Given the description of an element on the screen output the (x, y) to click on. 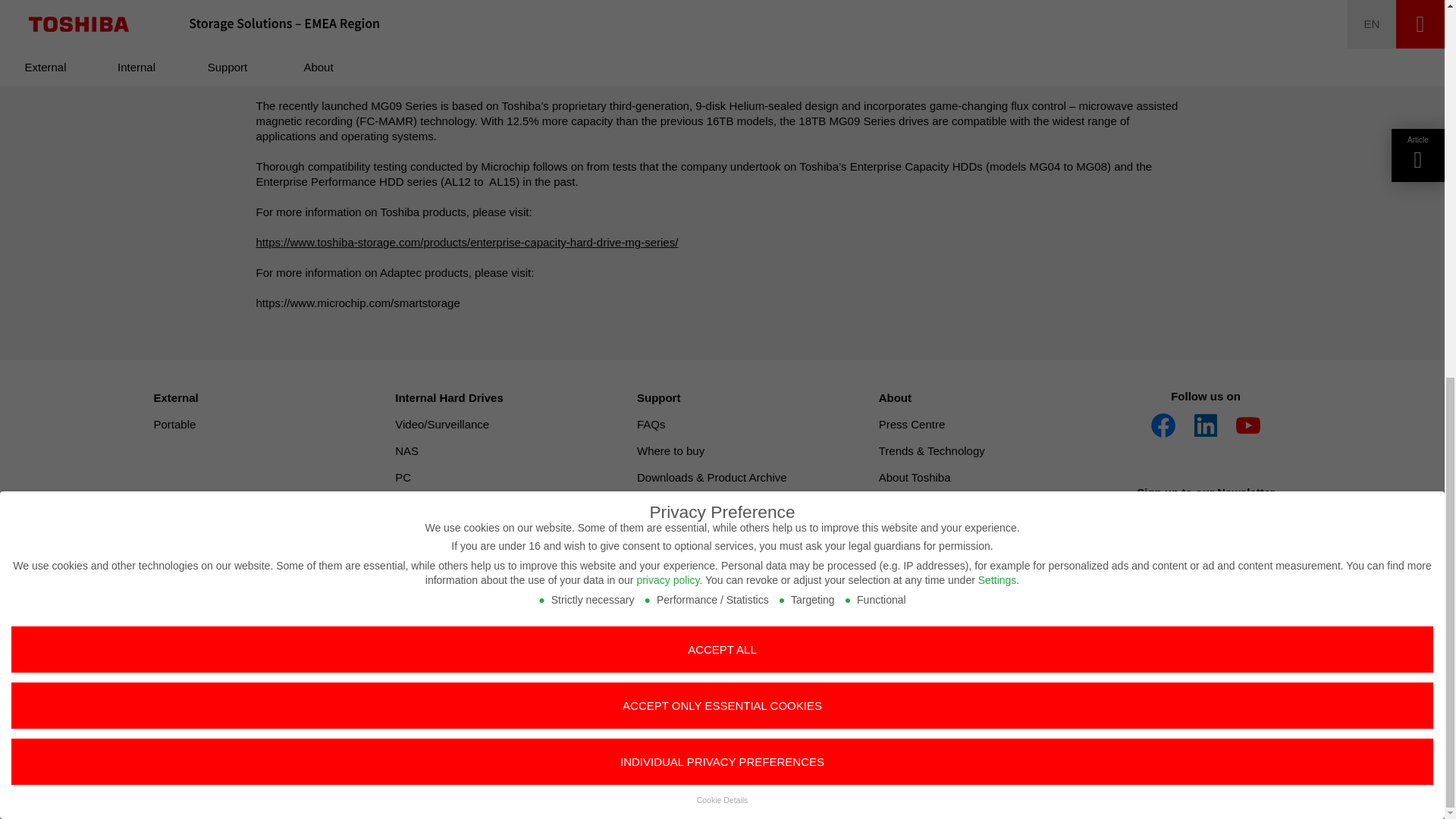
Open Cookie Preferences (32, 102)
